Given the description of an element on the screen output the (x, y) to click on. 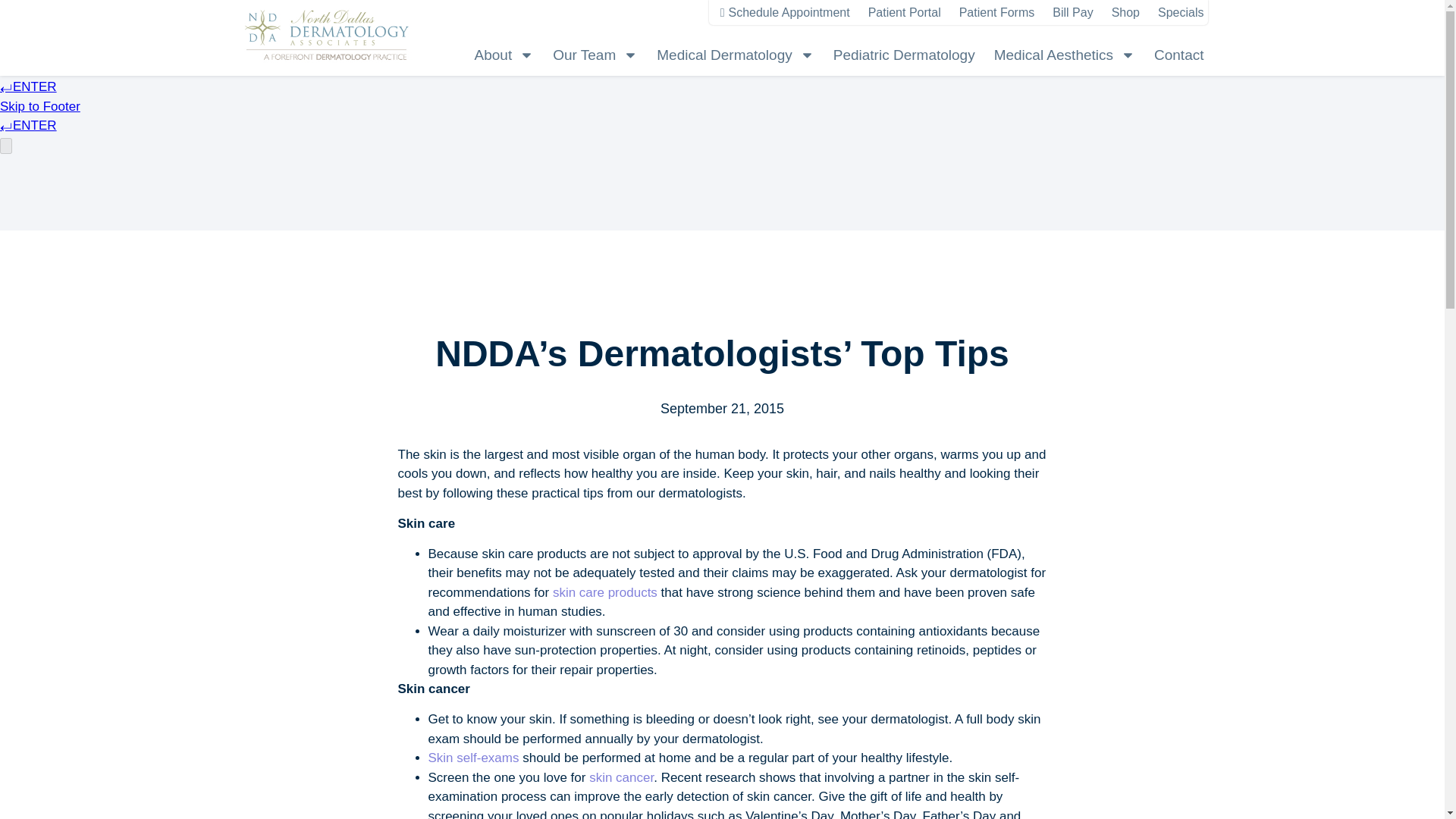
Bill Pay (1072, 12)
About (504, 55)
Shop (1126, 12)
Patient Portal (903, 12)
Schedule Appointment (785, 12)
Patient Forms (997, 12)
Medical Dermatology (734, 55)
Specials (1180, 12)
Our Team (595, 55)
